Given the description of an element on the screen output the (x, y) to click on. 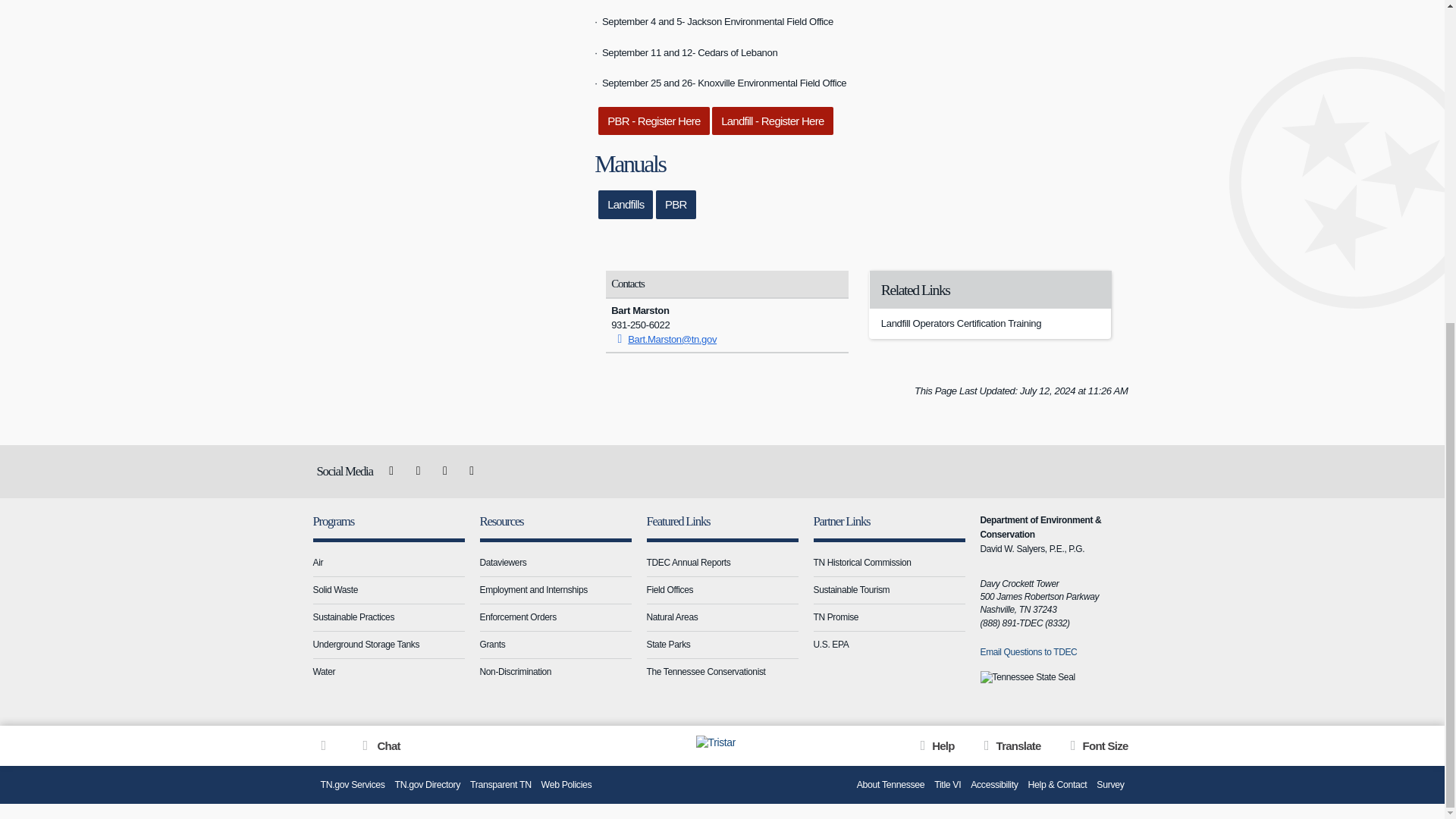
Email Bart Marston (663, 338)
